Given the description of an element on the screen output the (x, y) to click on. 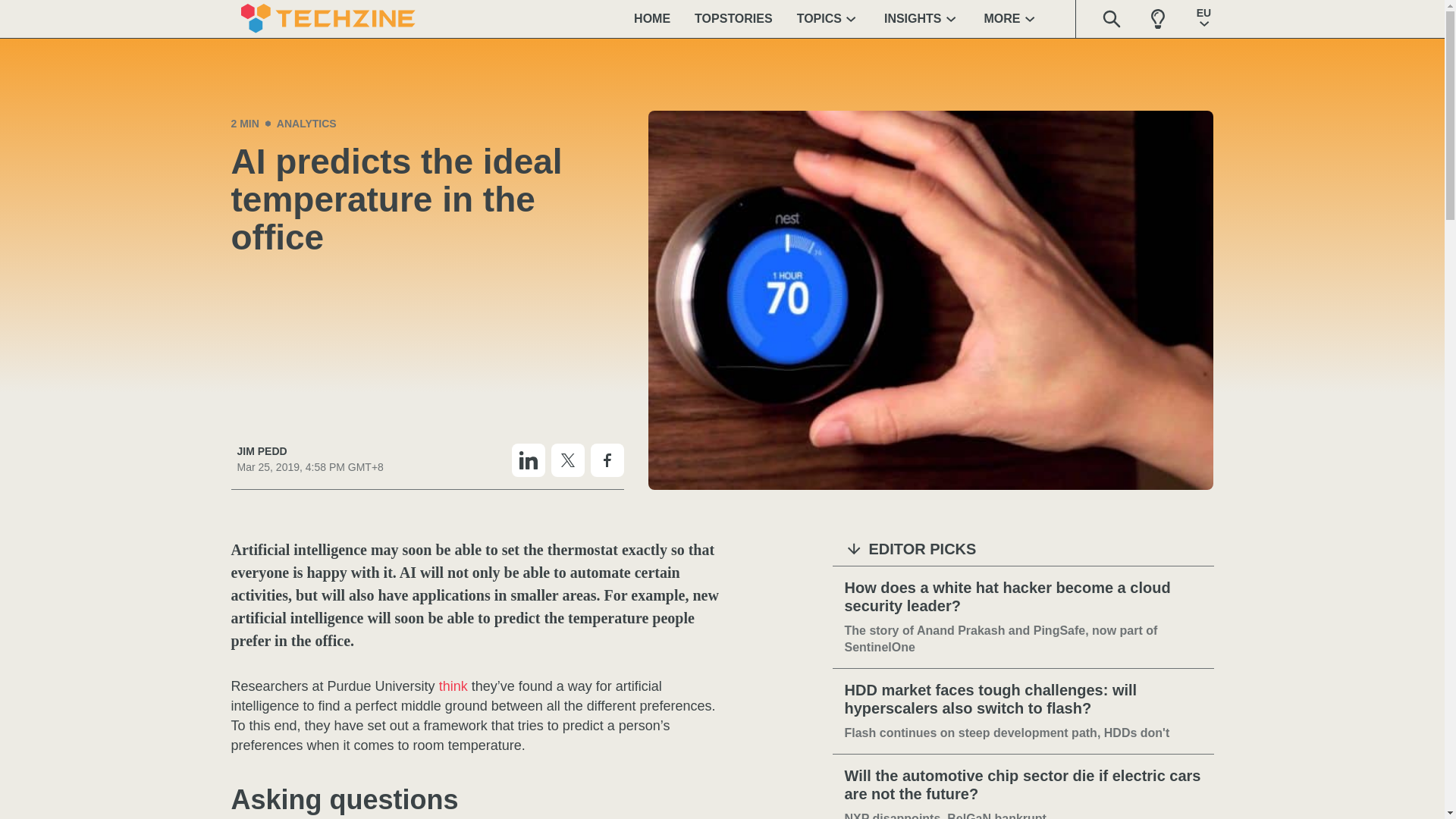
MORE (1011, 18)
JIM PEDD (308, 451)
INSIGHTS (922, 18)
TOPSTORIES (733, 18)
TOPICS (828, 18)
How does a white hat hacker become a cloud security leader? (1023, 597)
HOME (651, 18)
ANALYTICS (306, 123)
